Given the description of an element on the screen output the (x, y) to click on. 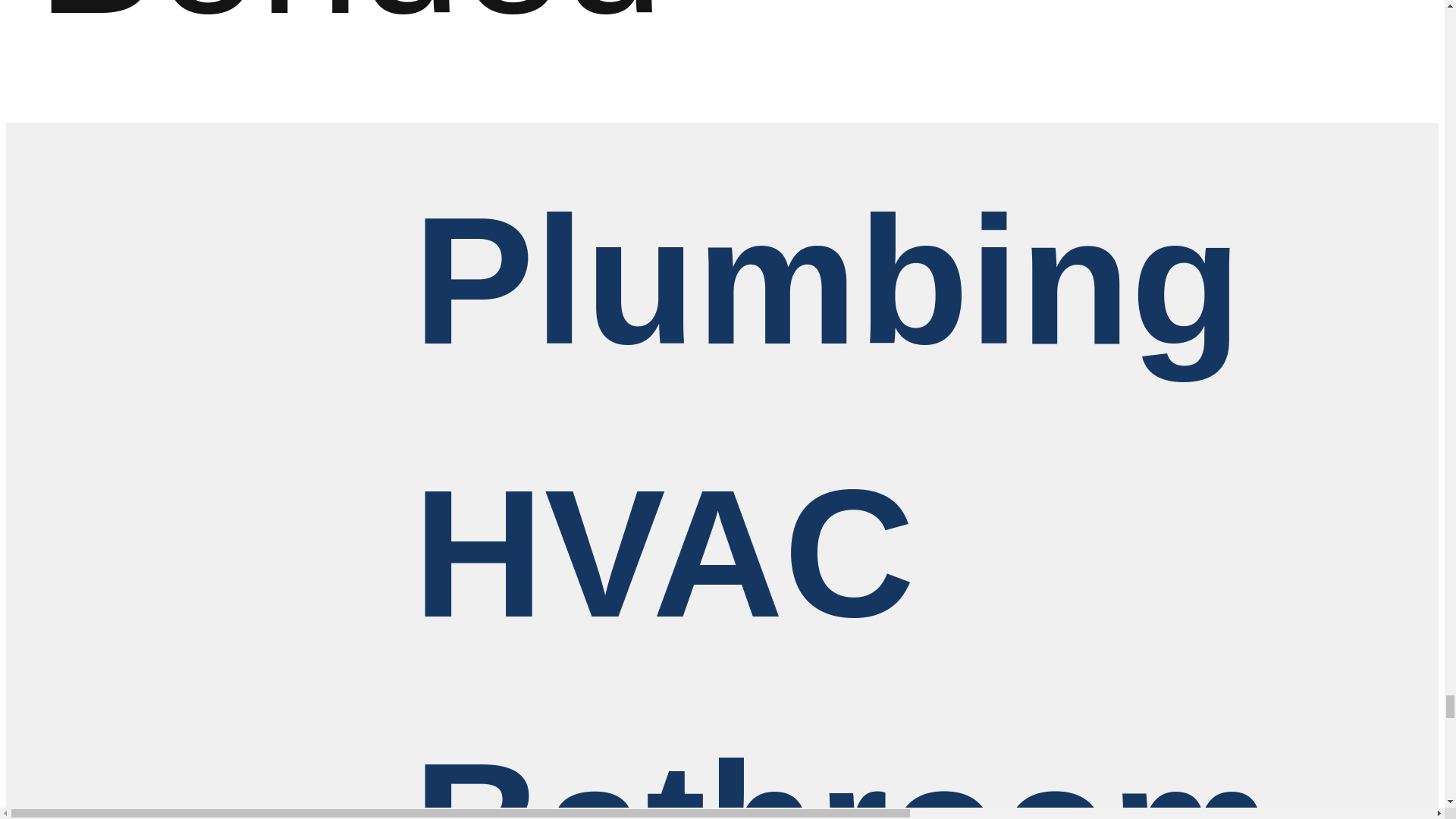
HVAC (663, 561)
Bathroom Remodeling (663, 770)
